Given the description of an element on the screen output the (x, y) to click on. 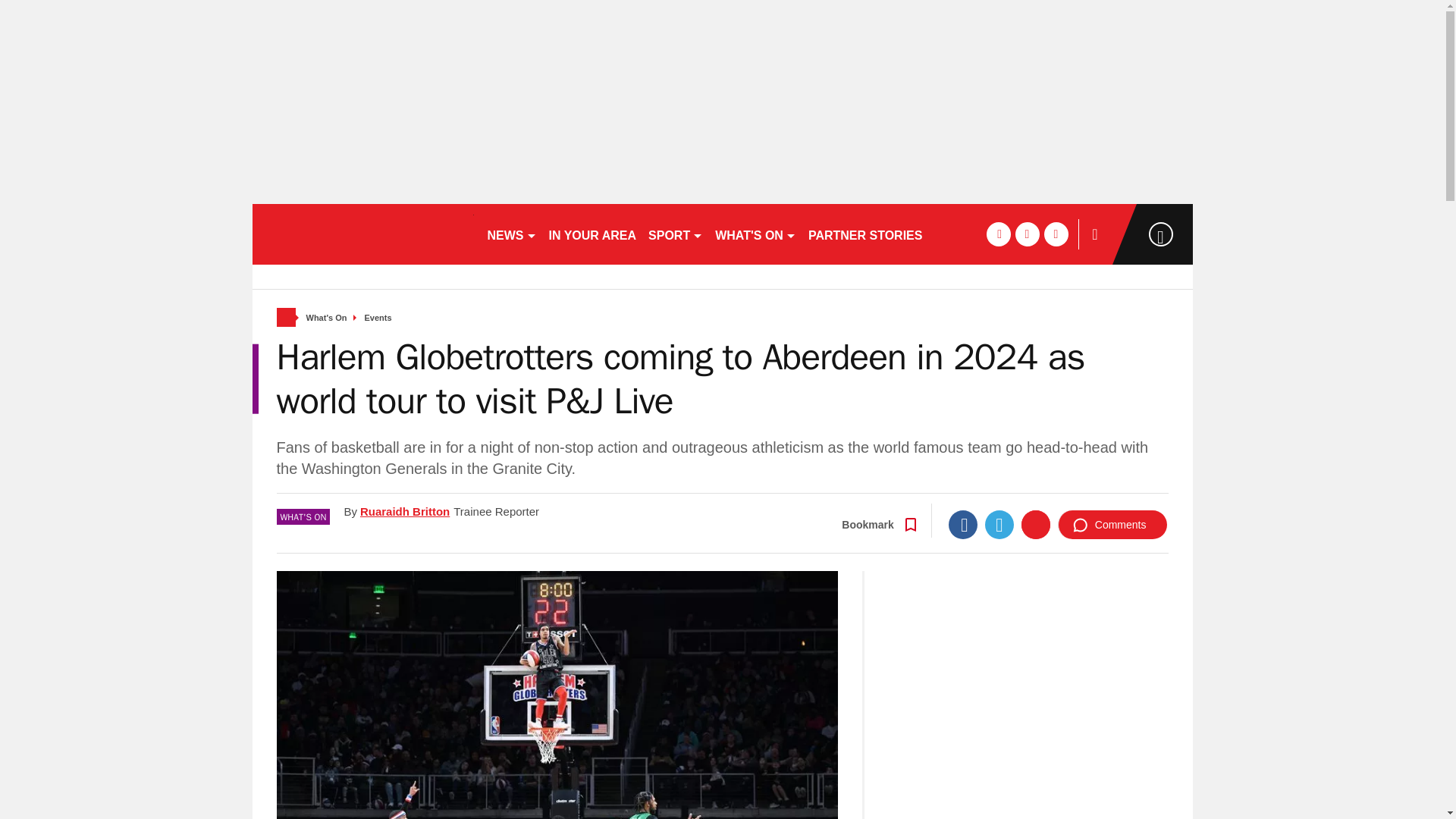
SPORT (675, 233)
twitter (1026, 233)
Facebook (962, 524)
WHAT'S ON (755, 233)
facebook (997, 233)
Comments (1112, 524)
NEWS (510, 233)
PARTNER STORIES (865, 233)
Twitter (999, 524)
instagram (1055, 233)
